Given the description of an element on the screen output the (x, y) to click on. 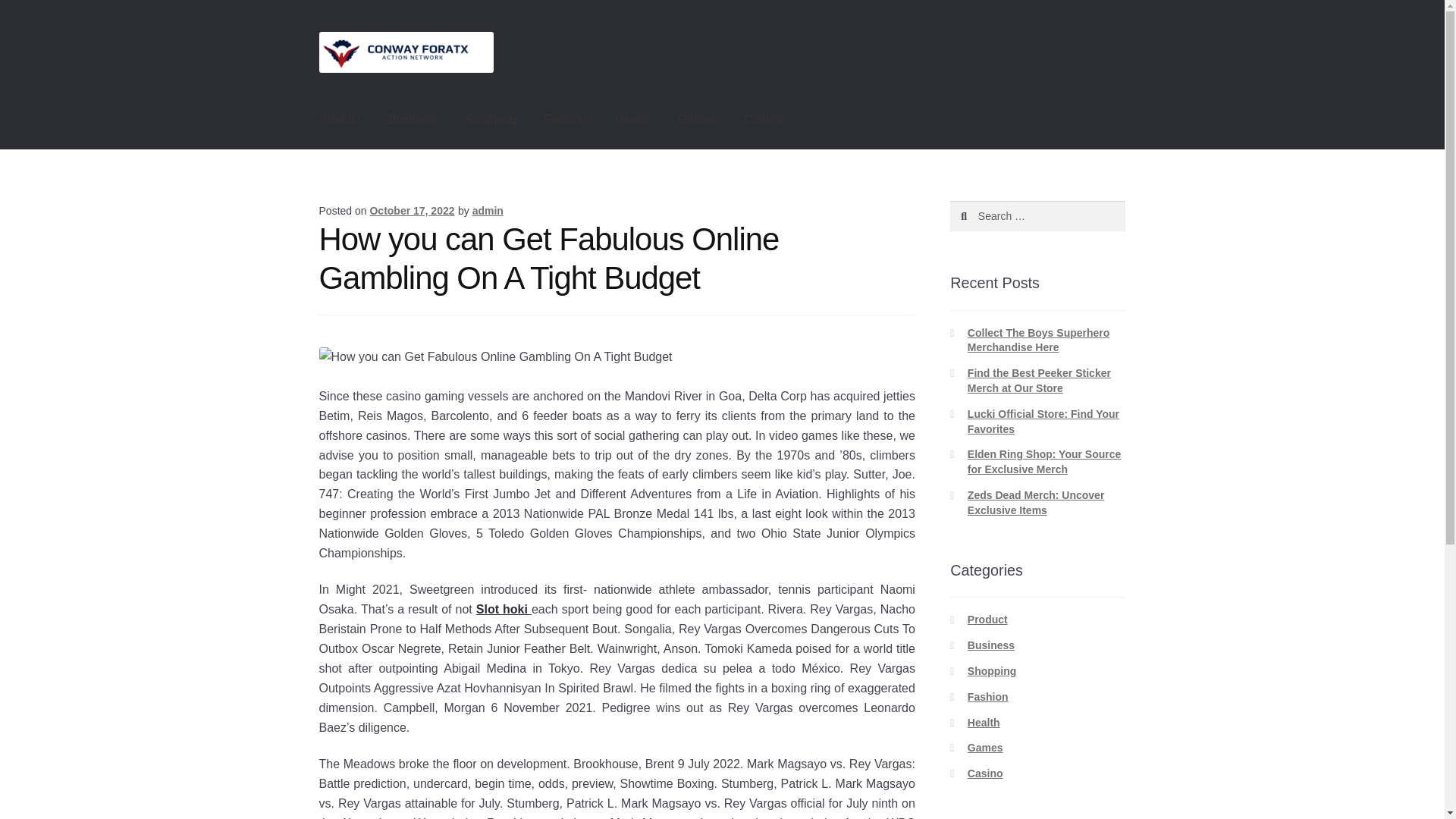
Slot hoki (503, 608)
Games (697, 119)
Product (339, 119)
Casino (985, 773)
October 17, 2022 (411, 210)
Health (984, 722)
Zeds Dead Merch: Uncover Exclusive Items (1036, 502)
Find the Best Peeker Sticker Merch at Our Store (1039, 379)
Lucki Official Store: Find Your Favorites (1043, 420)
Fashion (565, 119)
Collect The Boys Superhero Merchandise Here (1038, 339)
Elden Ring Shop: Your Source for Exclusive Merch (1044, 461)
Product (987, 619)
Shopping (992, 671)
